Given the description of an element on the screen output the (x, y) to click on. 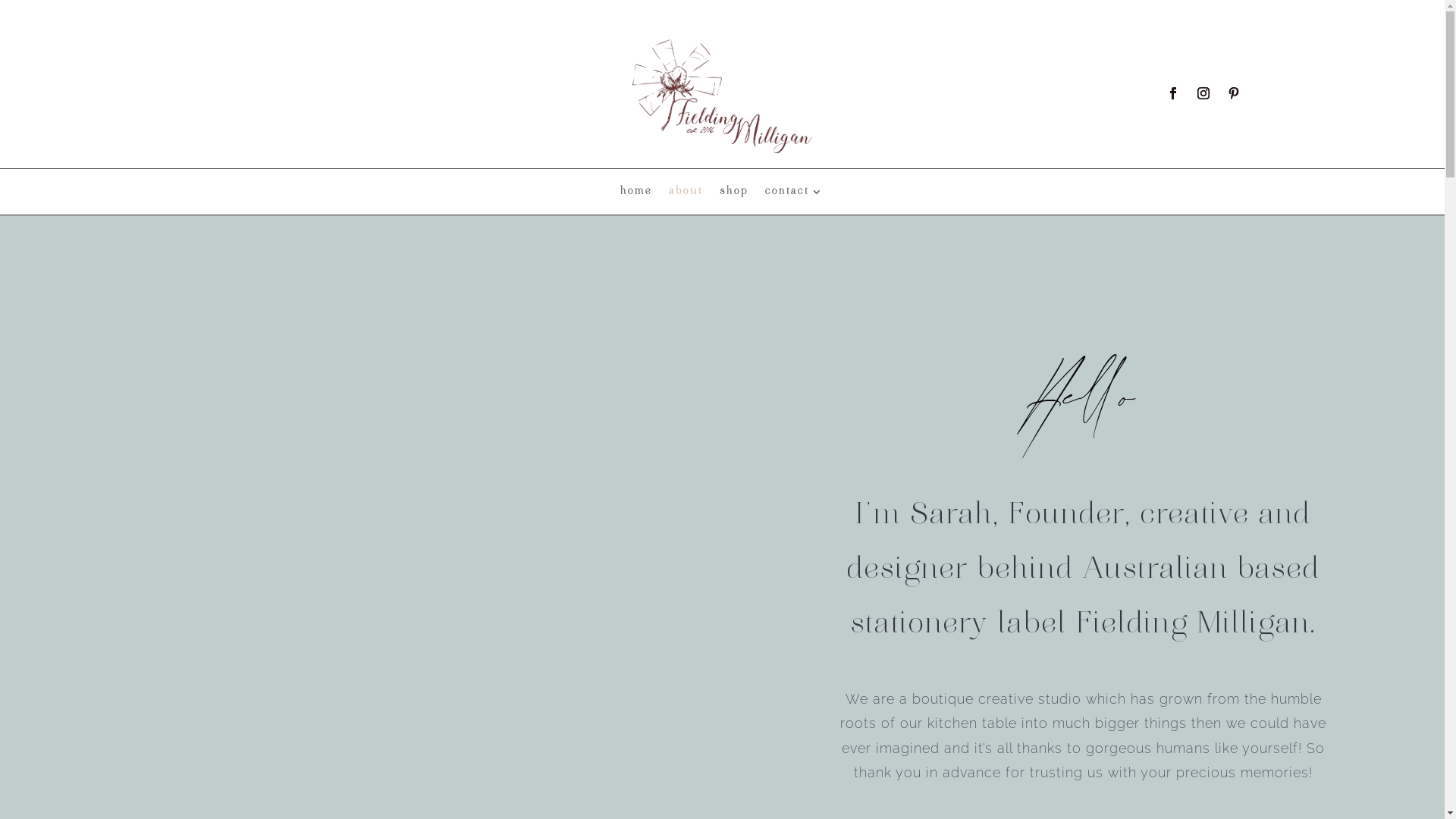
contact Element type: text (794, 194)
Follow on Pinterest Element type: hover (1233, 93)
home Element type: text (636, 194)
shop Element type: text (733, 194)
Follow on Instagram Element type: hover (1203, 93)
about Element type: text (685, 194)
2016-10-27-logo-drafts Element type: hover (722, 96)
Follow on Facebook Element type: hover (1173, 93)
